Given the description of an element on the screen output the (x, y) to click on. 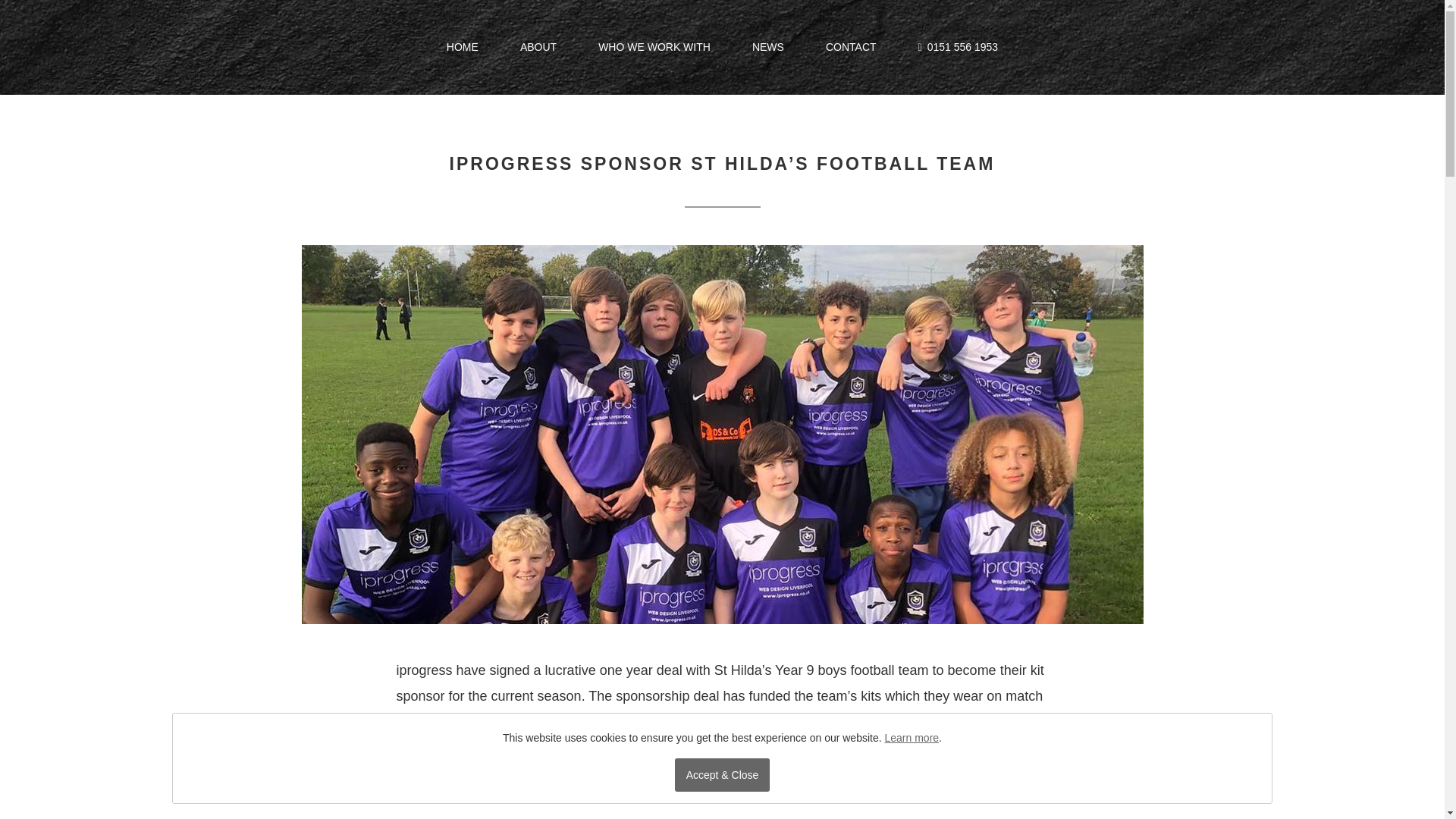
WHO WE WORK WITH (654, 50)
ABOUT (537, 50)
NEWS (768, 50)
CONTACT (850, 50)
Learn more (912, 737)
HOME (462, 50)
0151 556 1953 (962, 46)
